Given the description of an element on the screen output the (x, y) to click on. 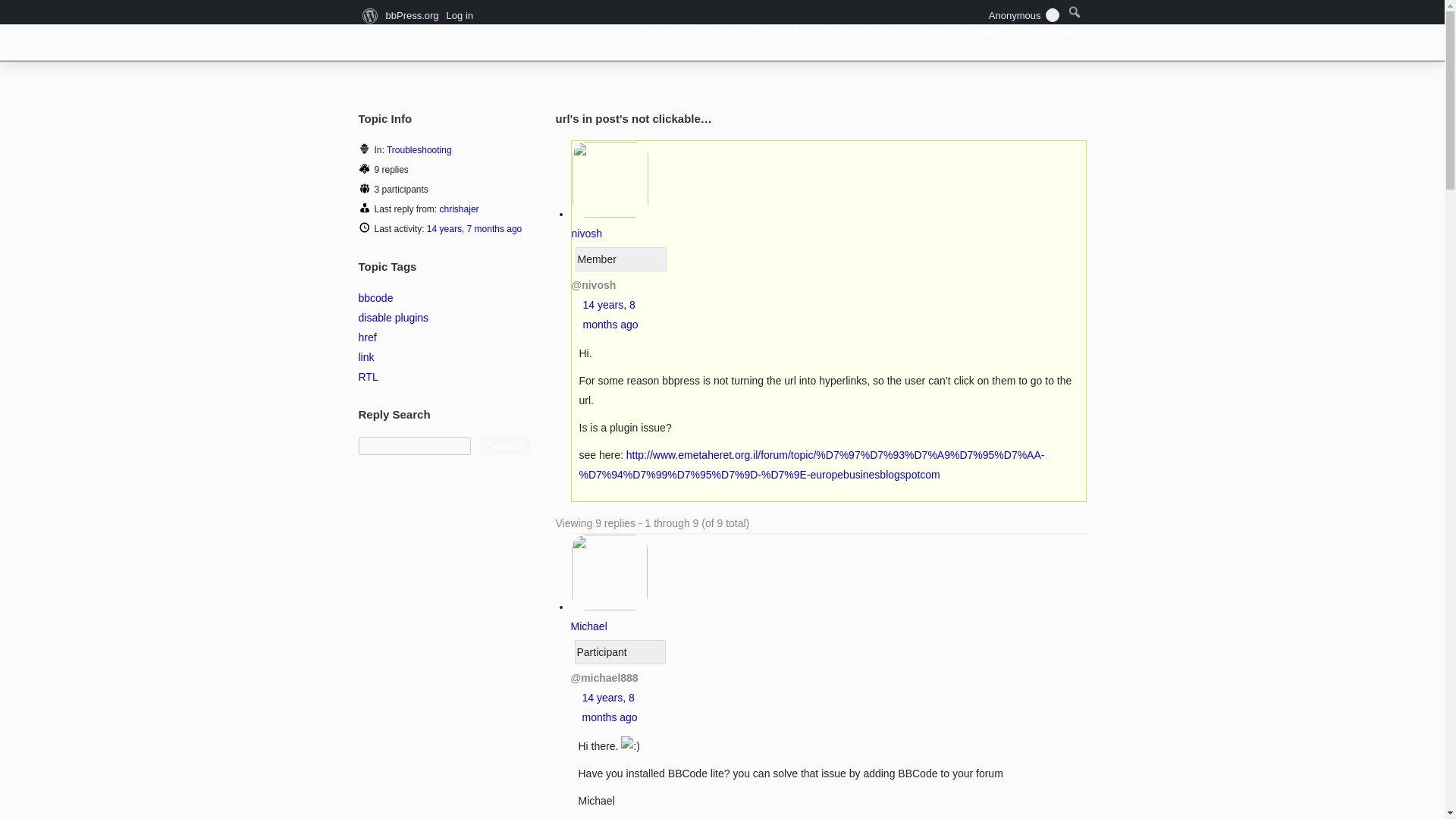
Themes (777, 29)
nivosh (610, 223)
Download (1050, 29)
Plugins (717, 29)
Michael (608, 616)
14 years, 8 months ago (609, 707)
Support (983, 29)
Search (504, 445)
14 years, 8 months ago (609, 314)
Blog (930, 29)
Documentation (857, 29)
About (662, 29)
bbPress.org (441, 29)
